Given the description of an element on the screen output the (x, y) to click on. 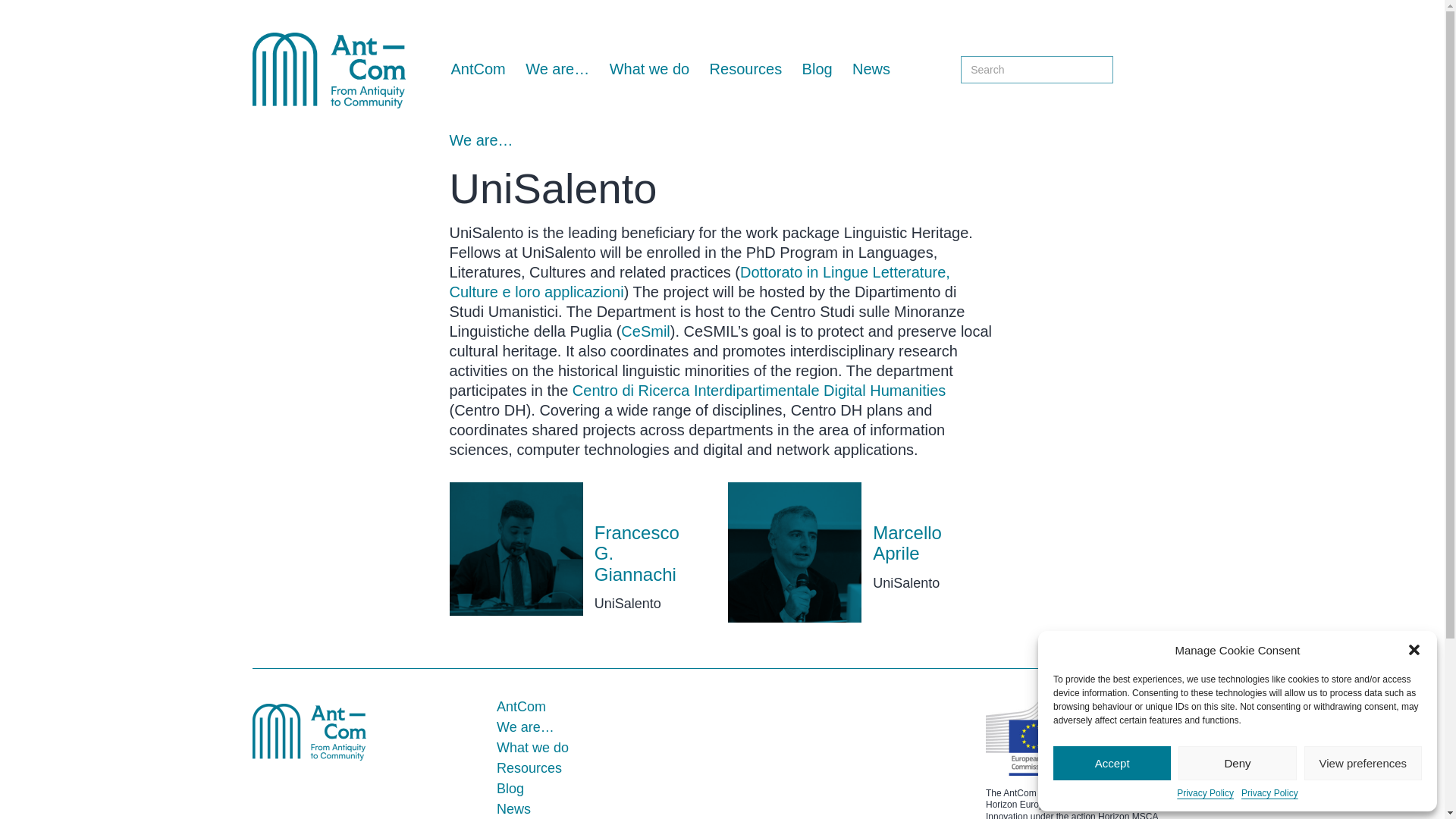
News (871, 67)
What we do (532, 747)
Accept (1111, 763)
Marcello Aprile (907, 543)
View preferences (1363, 763)
What we do (648, 67)
News (513, 808)
Resources (529, 767)
Deny (1236, 763)
AntCom (478, 67)
Centro di Ricerca Interdipartimentale Digital Humanities (758, 390)
Blog (816, 67)
CeSmil (645, 330)
Privacy Policy (1269, 793)
Dottorato in Lingue Letterature, Culture e loro applicazioni (698, 281)
